Given the description of an element on the screen output the (x, y) to click on. 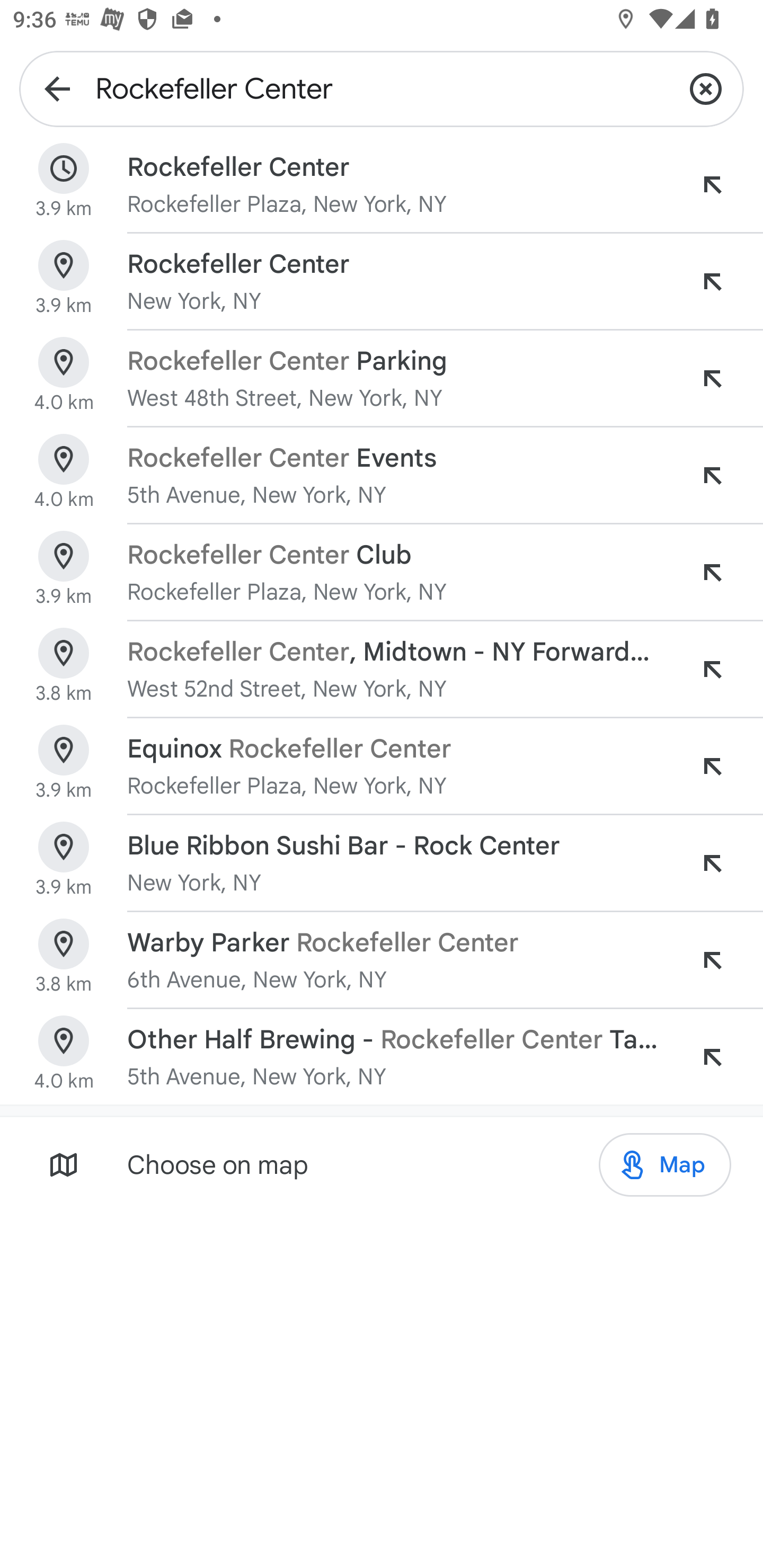
Navigate up (57, 88)
Rockefeller Center (381, 88)
Clear (705, 88)
Choose on map Map Map Map (381, 1164)
Map Map Map (664, 1164)
